Given the description of an element on the screen output the (x, y) to click on. 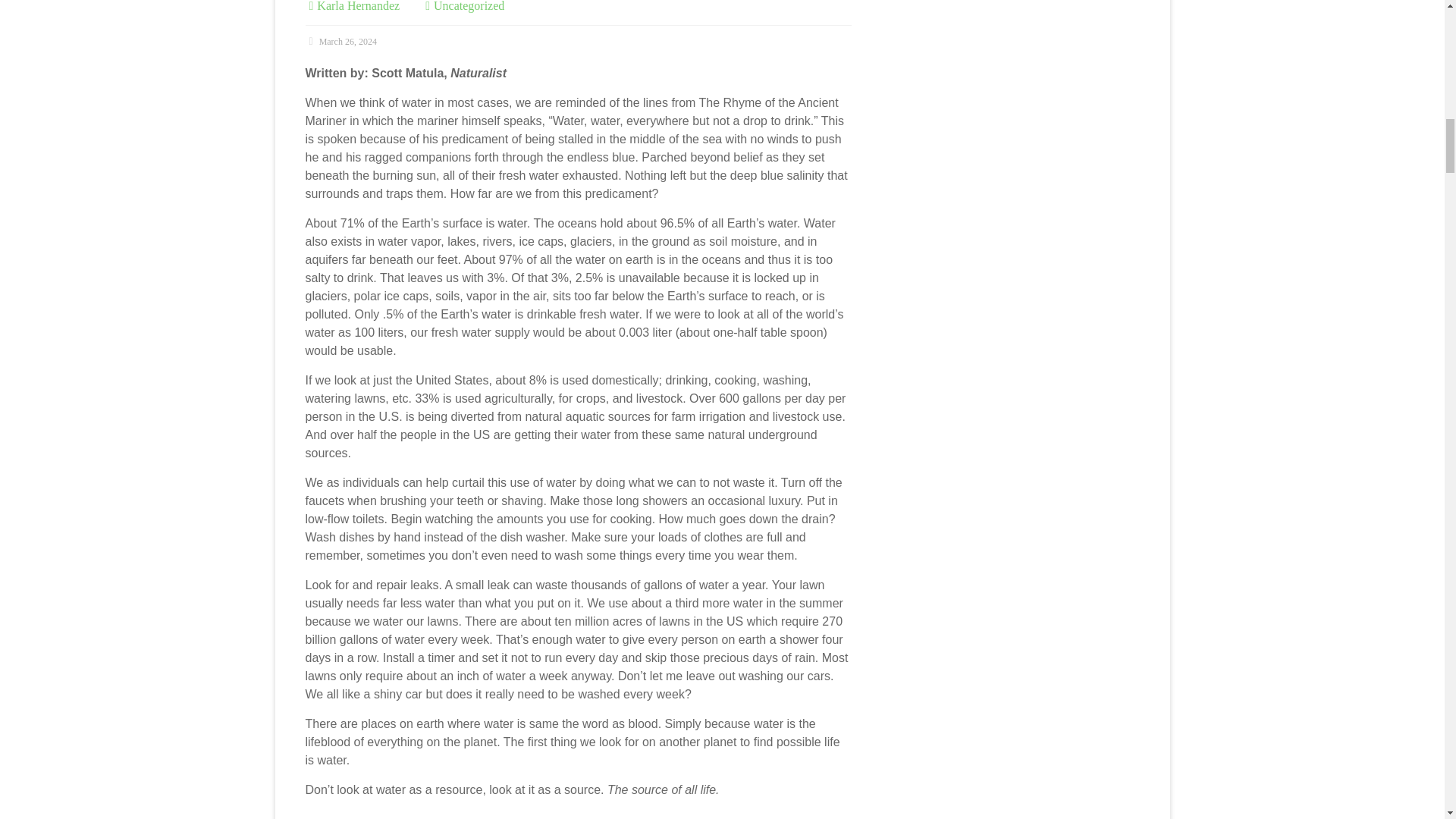
Uncategorized (468, 6)
Karla Hernandez (357, 6)
3:10 pm (339, 41)
Karla Hernandez (357, 6)
March 26, 2024 (339, 41)
